Given the description of an element on the screen output the (x, y) to click on. 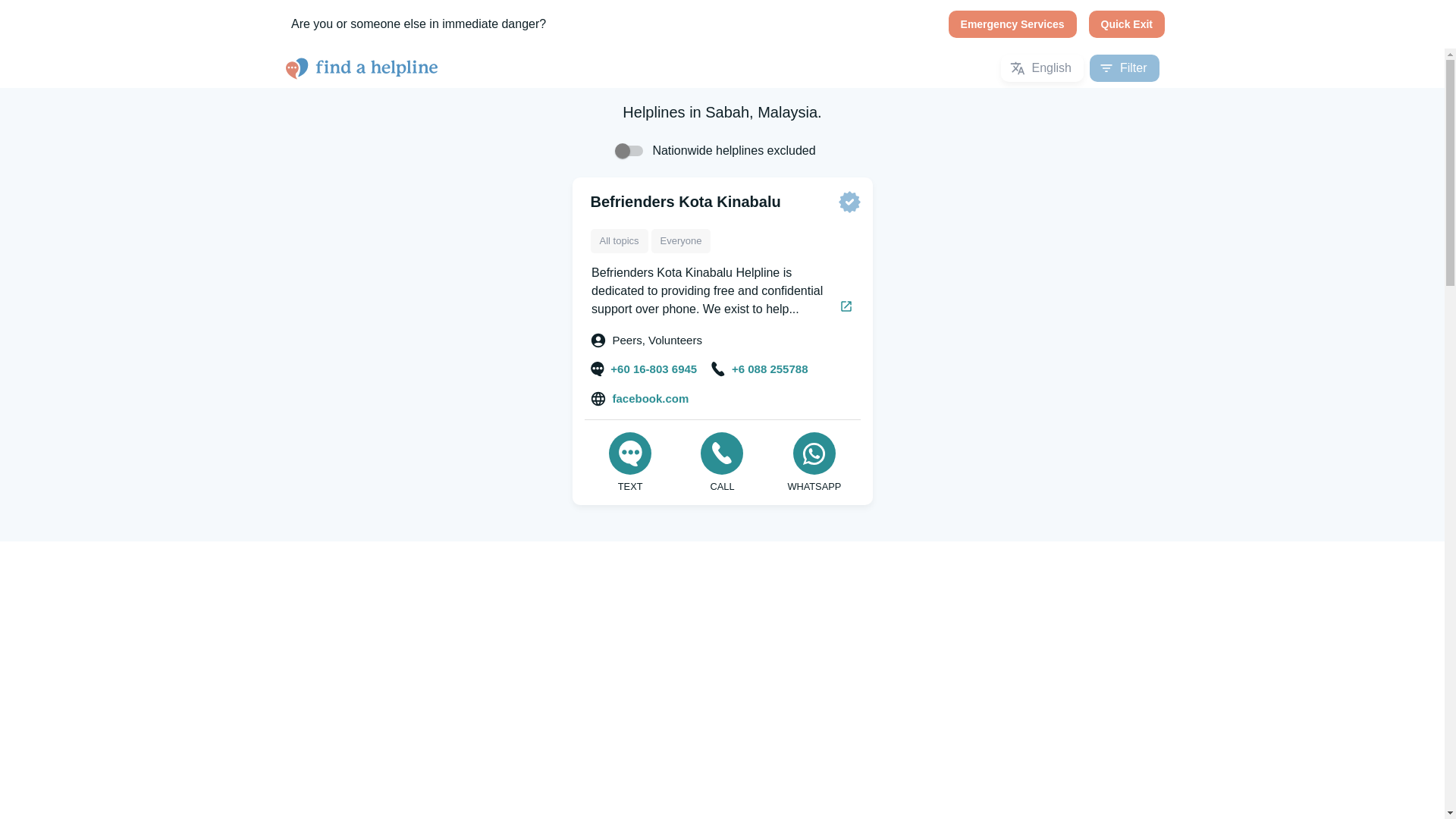
Peers, Volunteers (646, 340)
facebook.com (640, 398)
Quick Exit (1126, 24)
Filter (1123, 67)
English (1042, 67)
Befrienders Kota Kinabalu (684, 201)
Emergency Services (1013, 24)
